Given the description of an element on the screen output the (x, y) to click on. 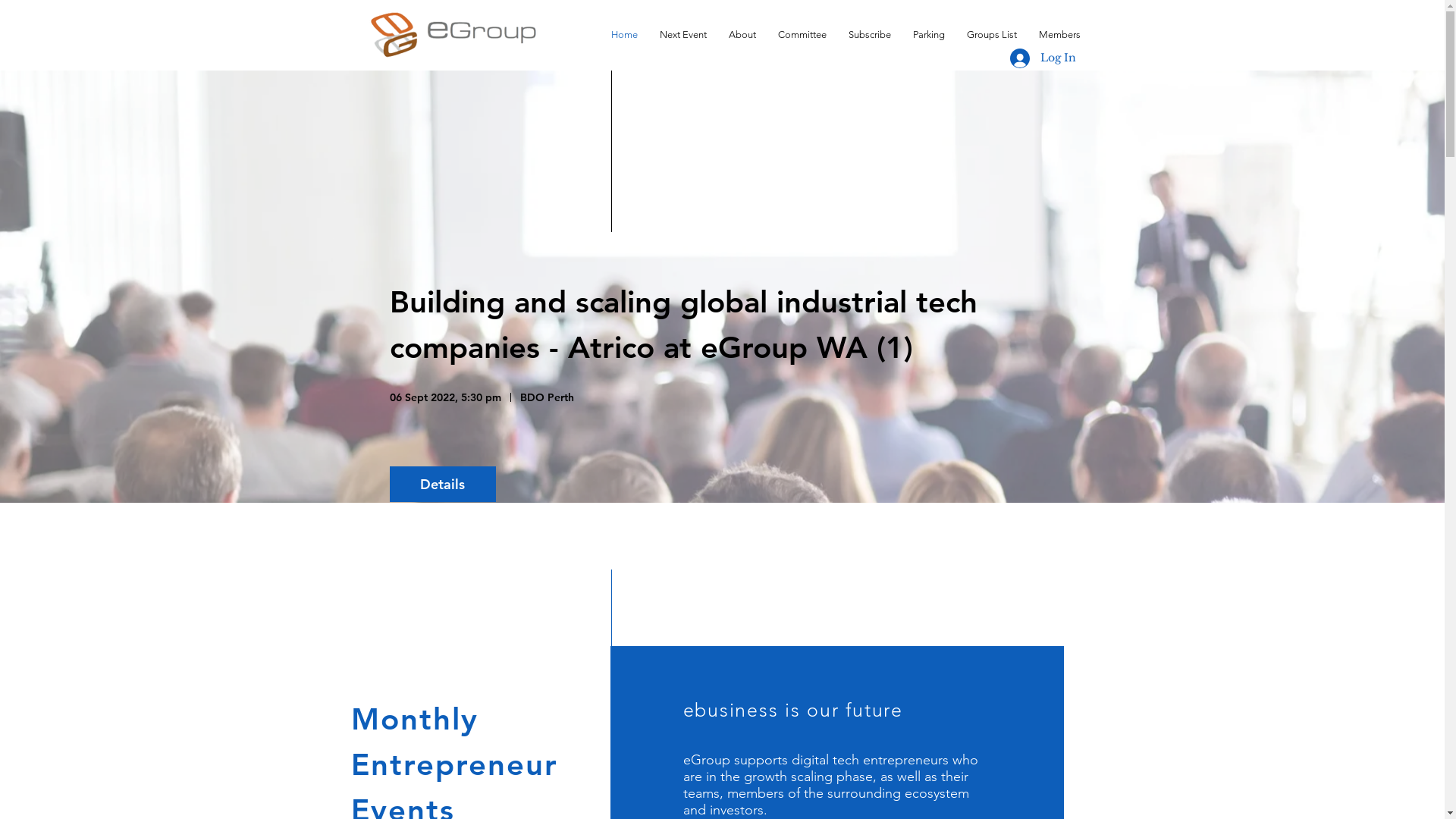
Home Element type: text (627, 34)
About Element type: text (744, 34)
Parking Element type: text (932, 34)
Next Event Element type: text (686, 34)
Log In Element type: text (1042, 57)
Details Element type: text (442, 483)
Subscribe Element type: text (872, 34)
Groups List Element type: text (994, 34)
Members Element type: text (1062, 34)
Committee Element type: text (805, 34)
